Given the description of an element on the screen output the (x, y) to click on. 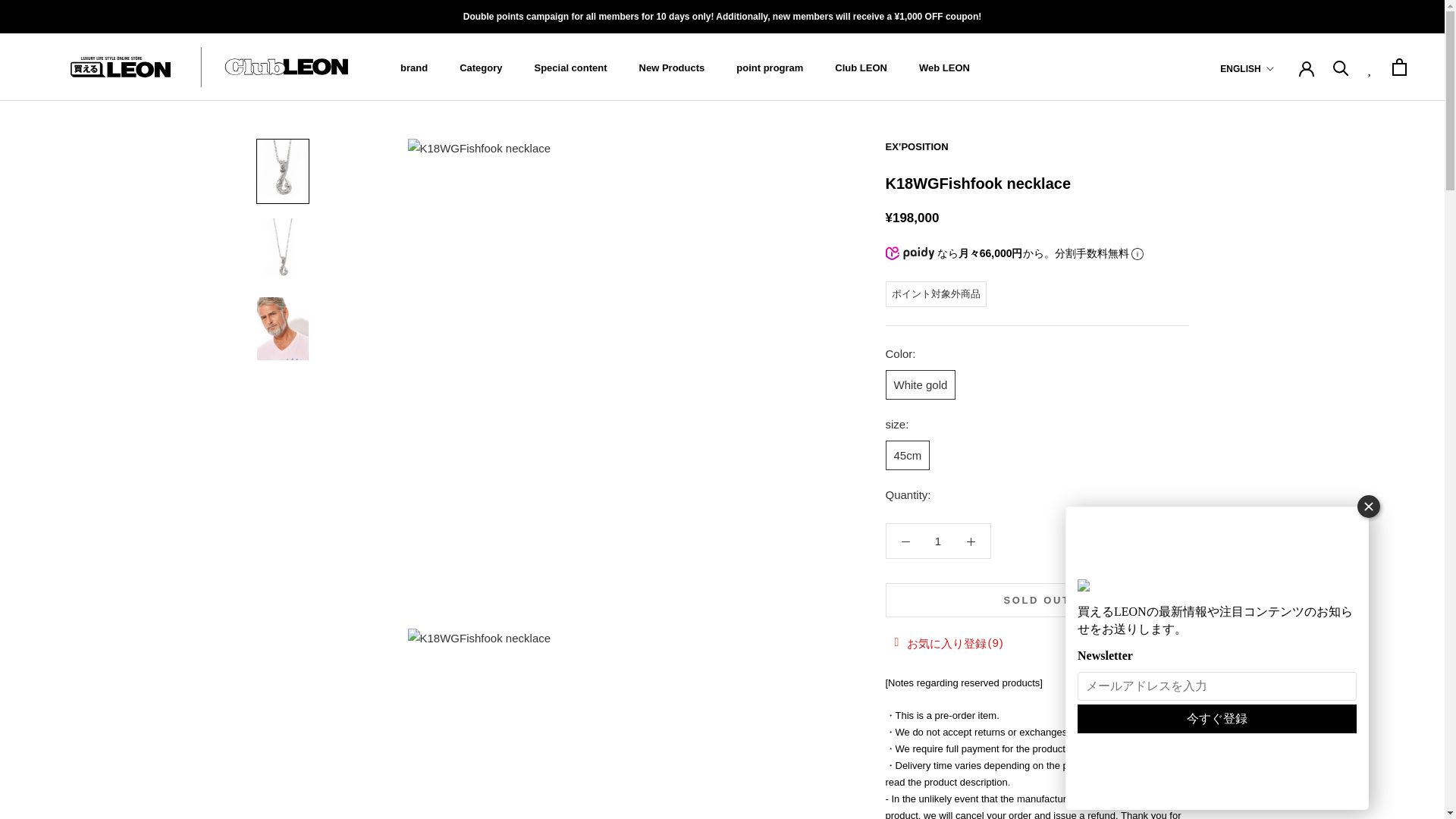
1 (938, 540)
